Given the description of an element on the screen output the (x, y) to click on. 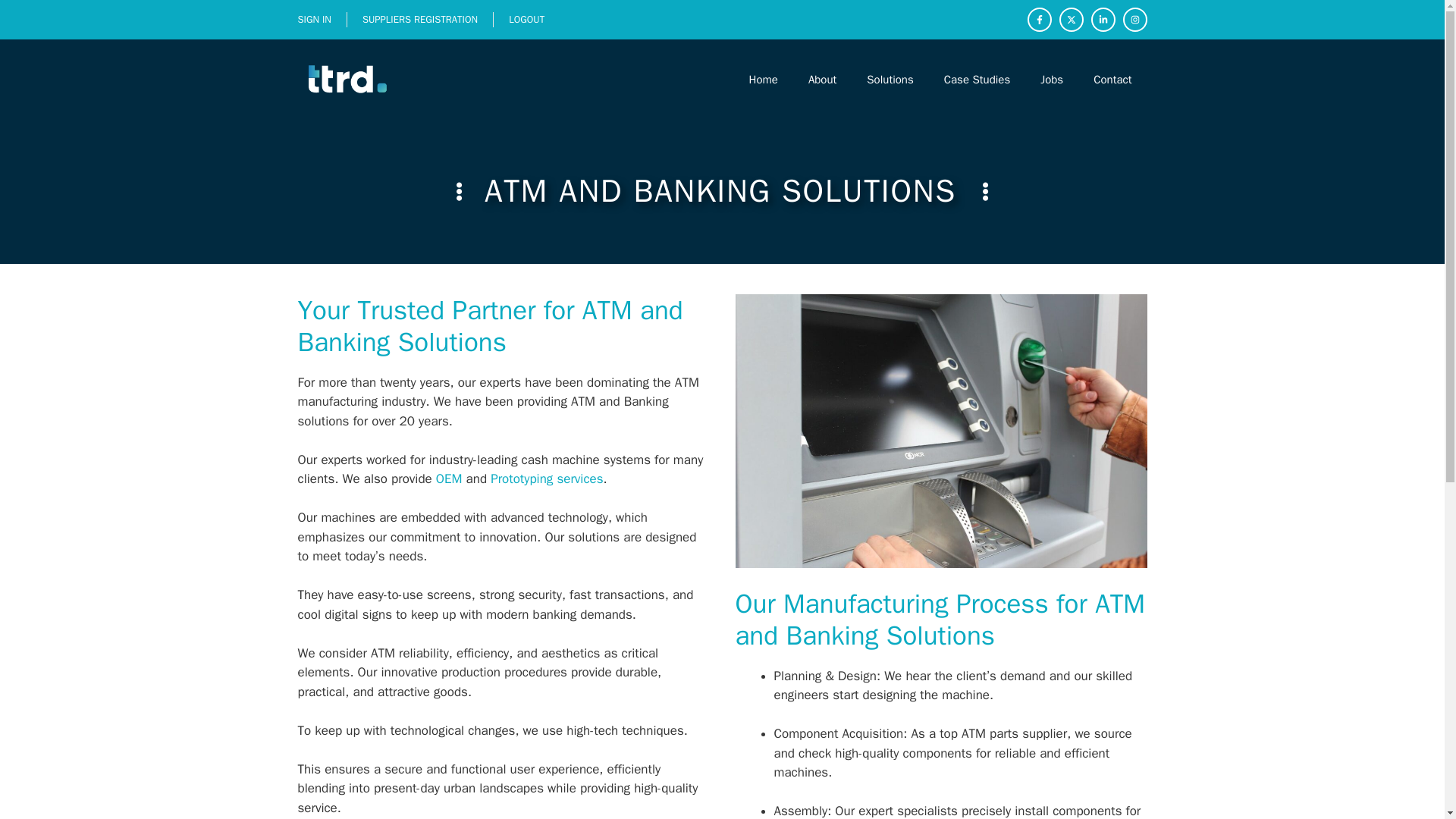
Home (763, 79)
About (822, 79)
OEM (449, 478)
Case Studies (976, 79)
LOGOUT (526, 19)
SIGN IN (313, 19)
Solutions (889, 79)
SUPPLIERS REGISTRATION (419, 19)
Jobs (1051, 79)
Contact (1112, 79)
Prototyping services (546, 478)
